Given the description of an element on the screen output the (x, y) to click on. 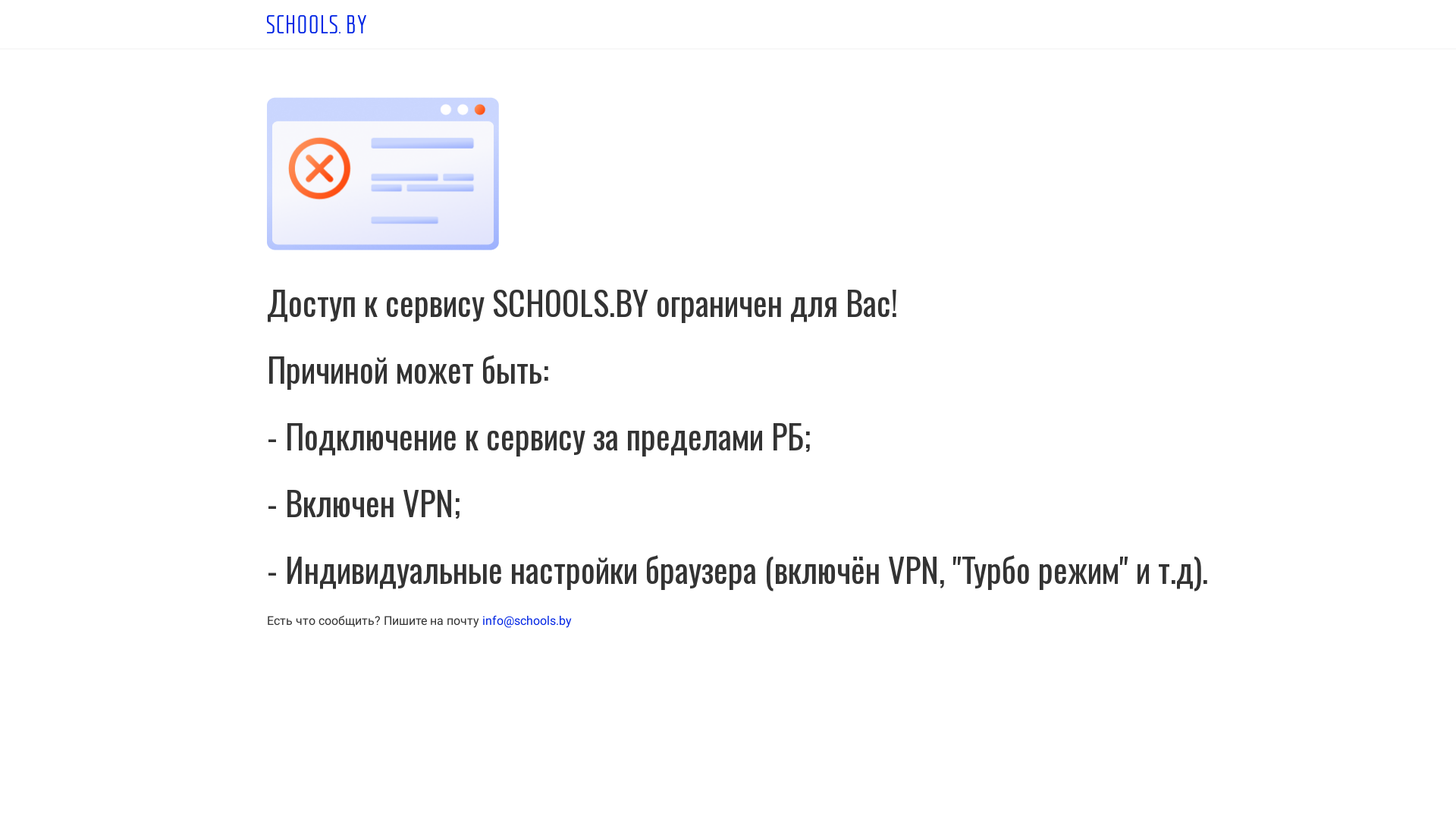
info@schools.by Element type: text (526, 620)
